Given the description of an element on the screen output the (x, y) to click on. 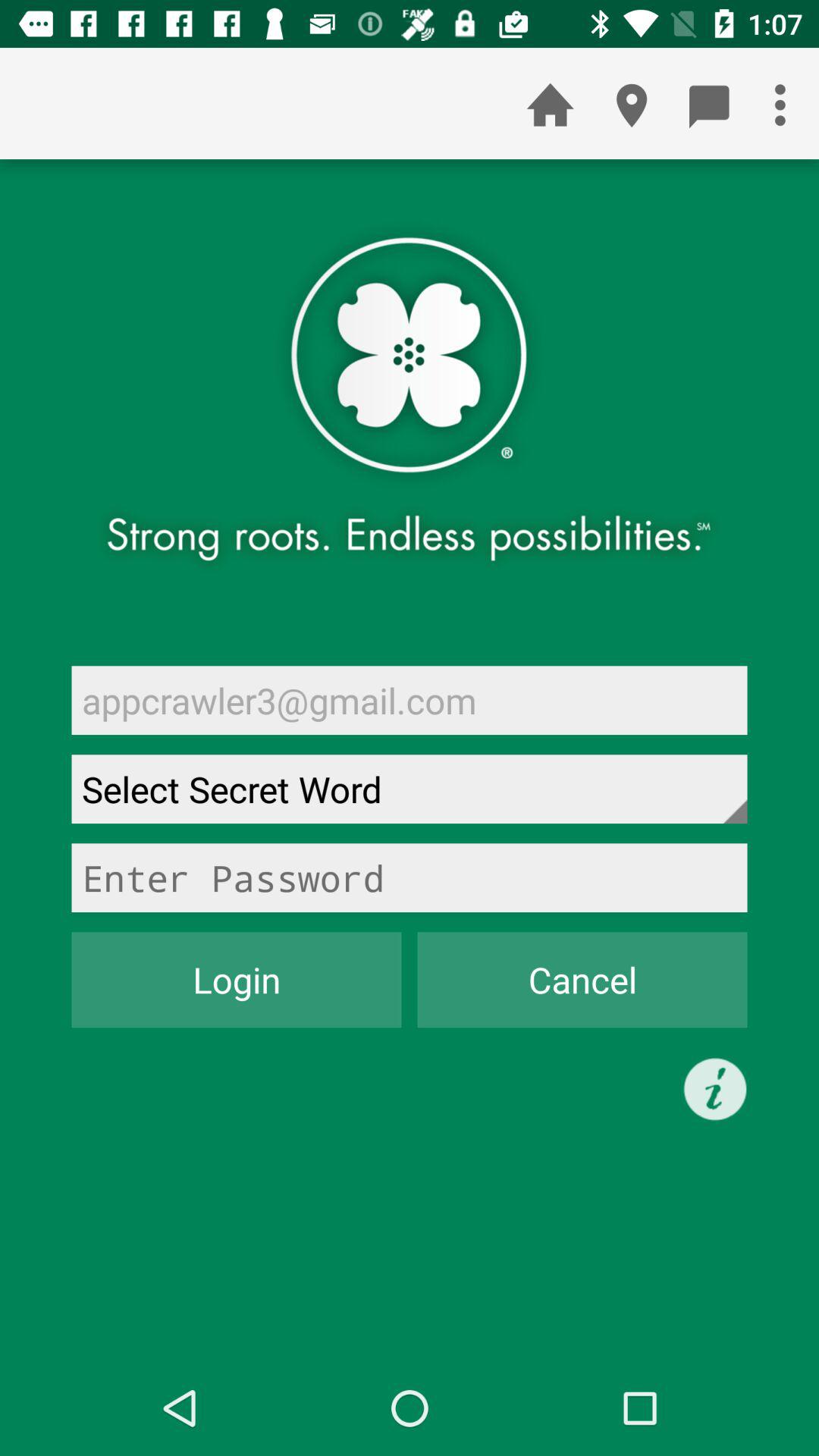
password box (409, 877)
